Given the description of an element on the screen output the (x, y) to click on. 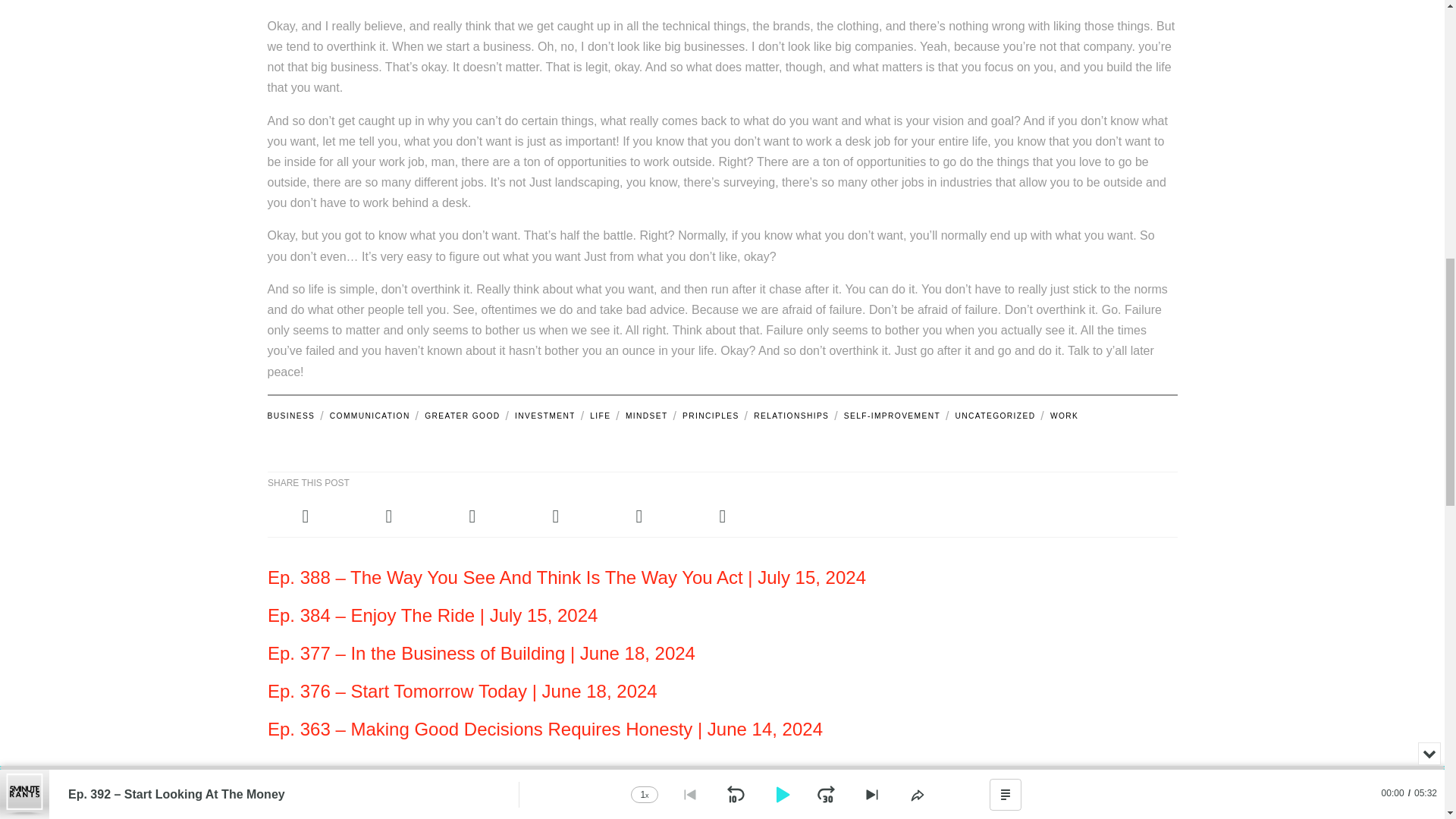
SELF-IMPROVEMENT (891, 416)
MINDSET (646, 416)
GREATER GOOD (462, 416)
COMMUNICATION (369, 416)
INVESTMENT (544, 416)
PRINCIPLES (710, 416)
BUSINESS (289, 416)
UNCATEGORIZED (995, 416)
LIFE (599, 416)
RELATIONSHIPS (791, 416)
